Given the description of an element on the screen output the (x, y) to click on. 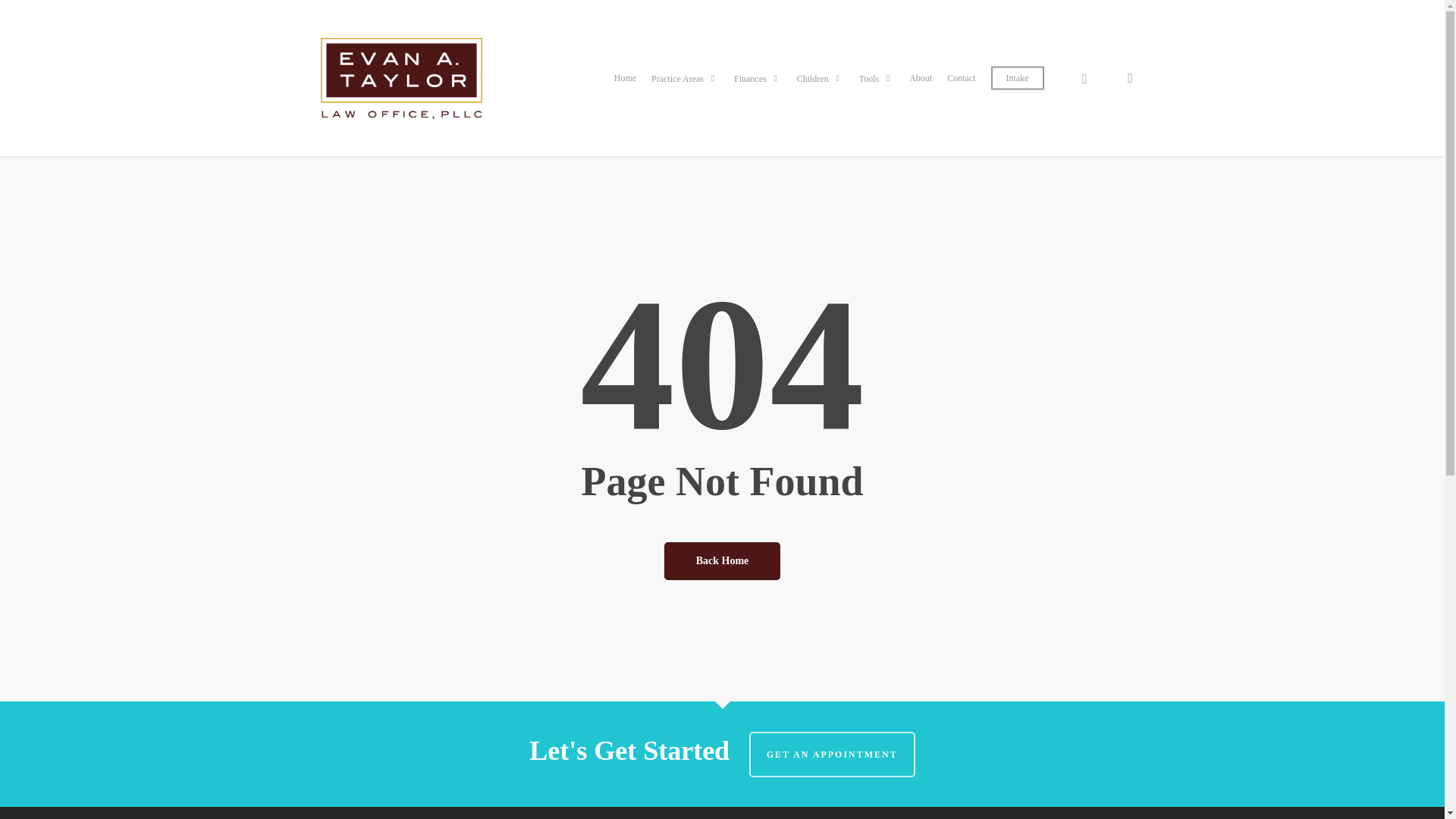
Tools (876, 78)
search (1129, 77)
facebook (1084, 77)
Back Home (721, 560)
Practice Areas (684, 78)
Children (820, 78)
Intake (1017, 77)
Finances (757, 78)
About (920, 77)
Contact (960, 77)
GET AN APPOINTMENT (832, 754)
Home (625, 77)
